Given the description of an element on the screen output the (x, y) to click on. 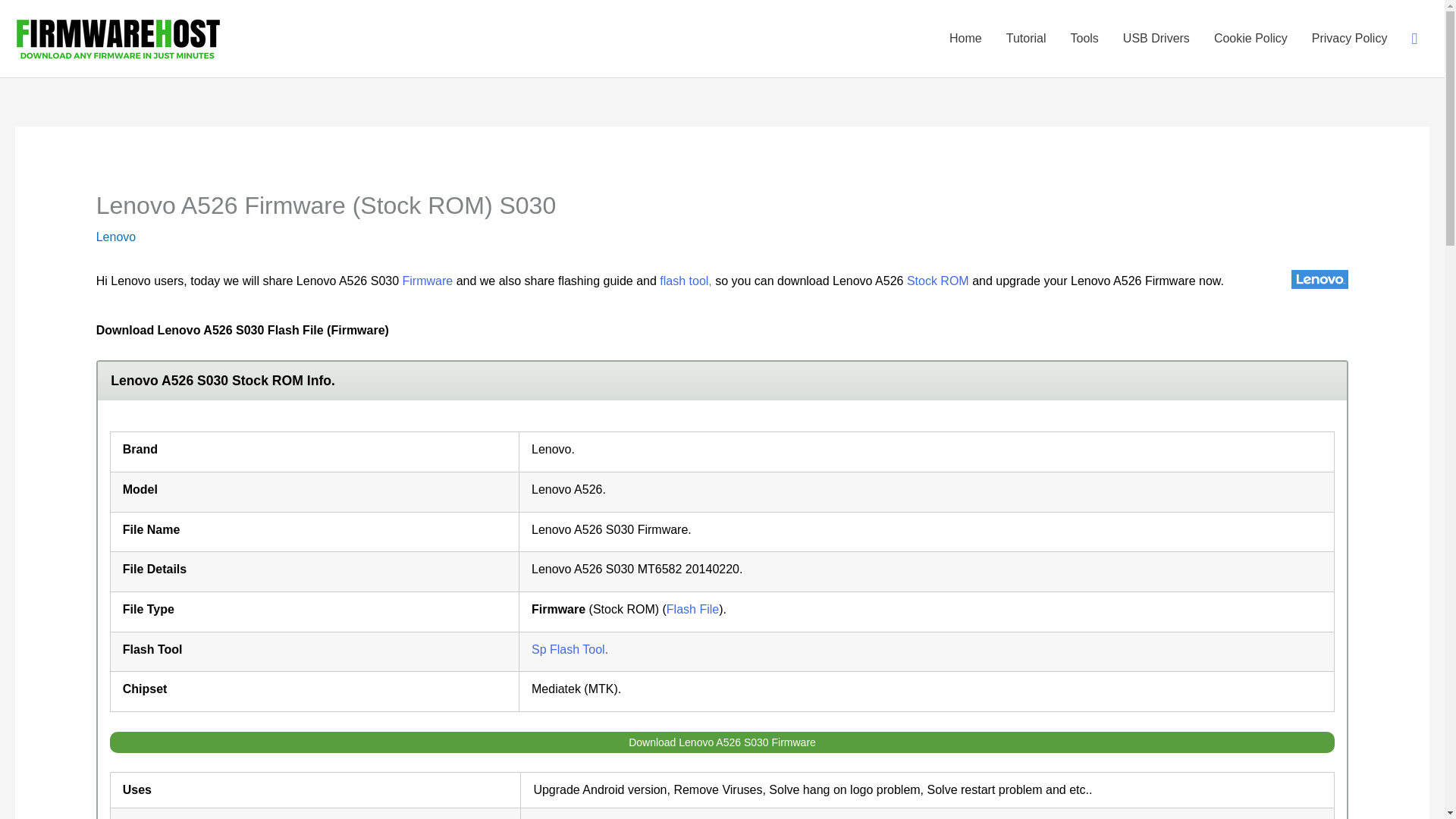
Lenovo (116, 236)
Sp Flash Tool (568, 649)
Flash File (692, 608)
USB Drivers (1156, 38)
Stock ROM (938, 280)
Download Lenovo A526 S030 Firmware (722, 742)
flash tool (683, 280)
Cookie Policy (1251, 38)
Privacy Policy (1349, 38)
Firmware (427, 280)
